Given the description of an element on the screen output the (x, y) to click on. 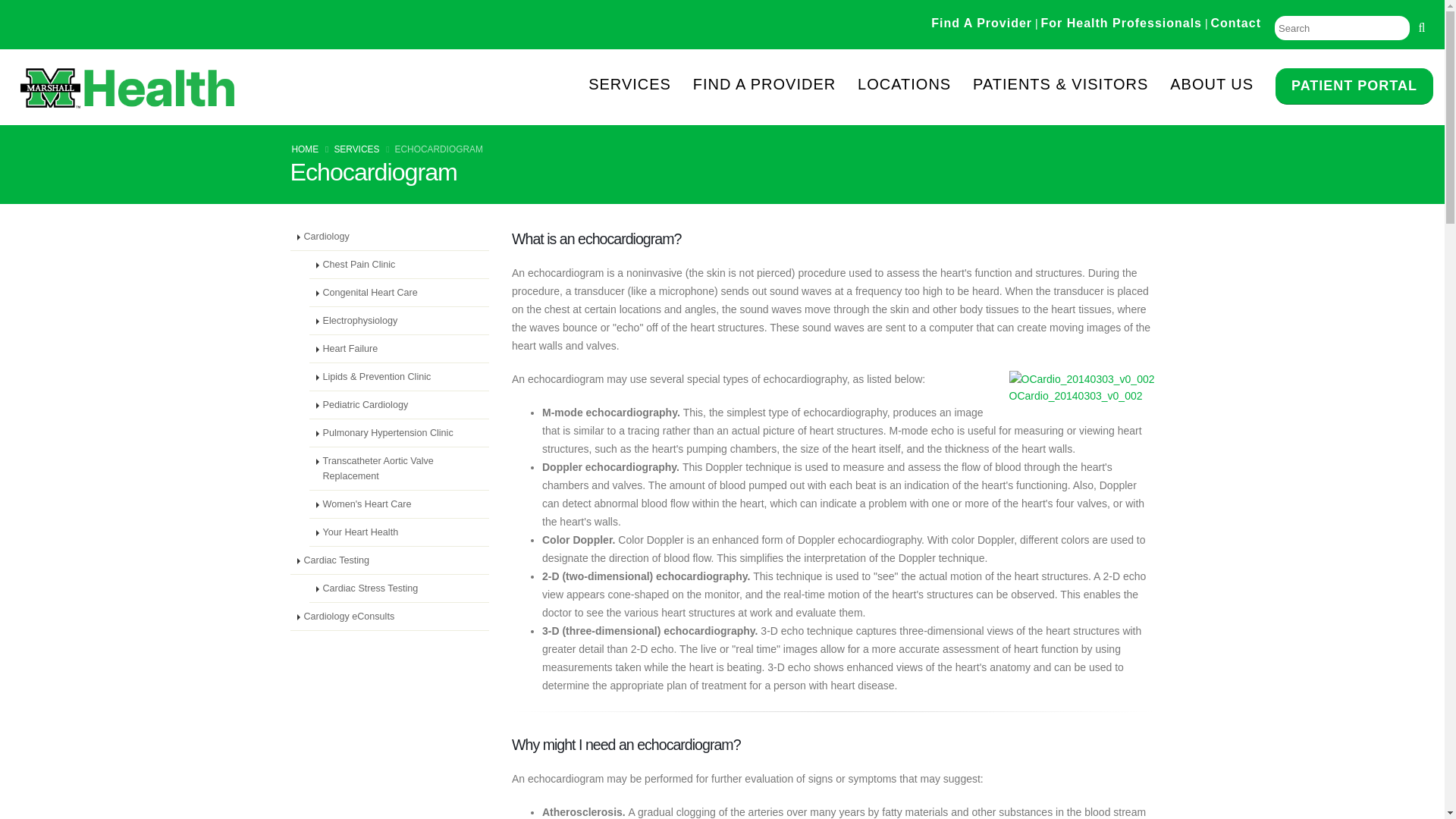
FIND A PROVIDER (773, 85)
SERVICES (355, 149)
Congenital Heart Care (398, 293)
Women's Heart Care (398, 504)
Cardiology (389, 236)
For Health Professionals (1121, 23)
PATIENT PORTAL (1353, 85)
Pulmonary Hypertension Clinic (398, 433)
Heart Failure (398, 348)
Find A Provider (981, 23)
LOCATIONS (913, 85)
ABOUT US (1221, 85)
Search (1342, 27)
Pediatric Cardiology (398, 405)
SERVICES (639, 85)
